Given the description of an element on the screen output the (x, y) to click on. 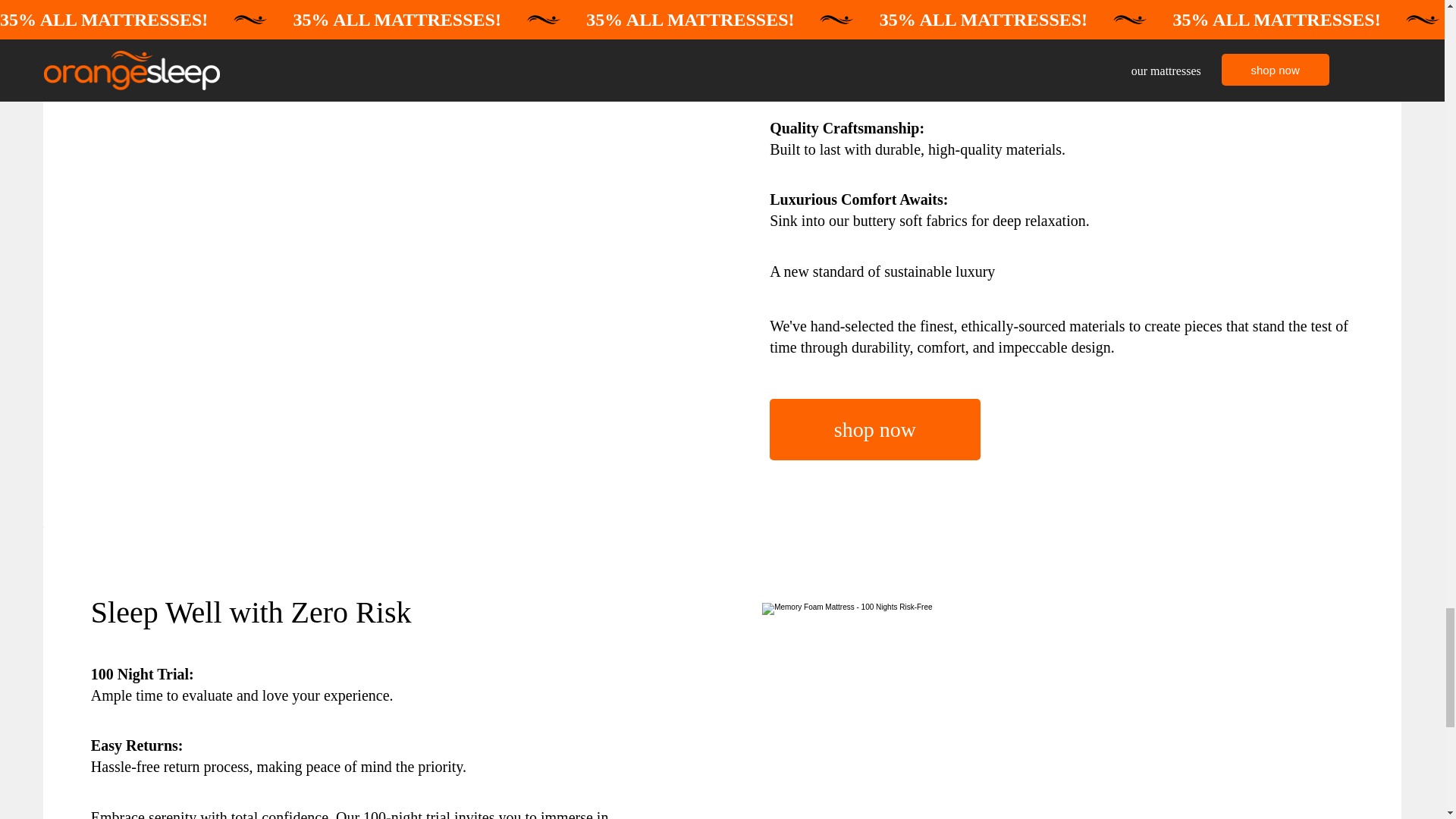
shop now (874, 429)
